Given the description of an element on the screen output the (x, y) to click on. 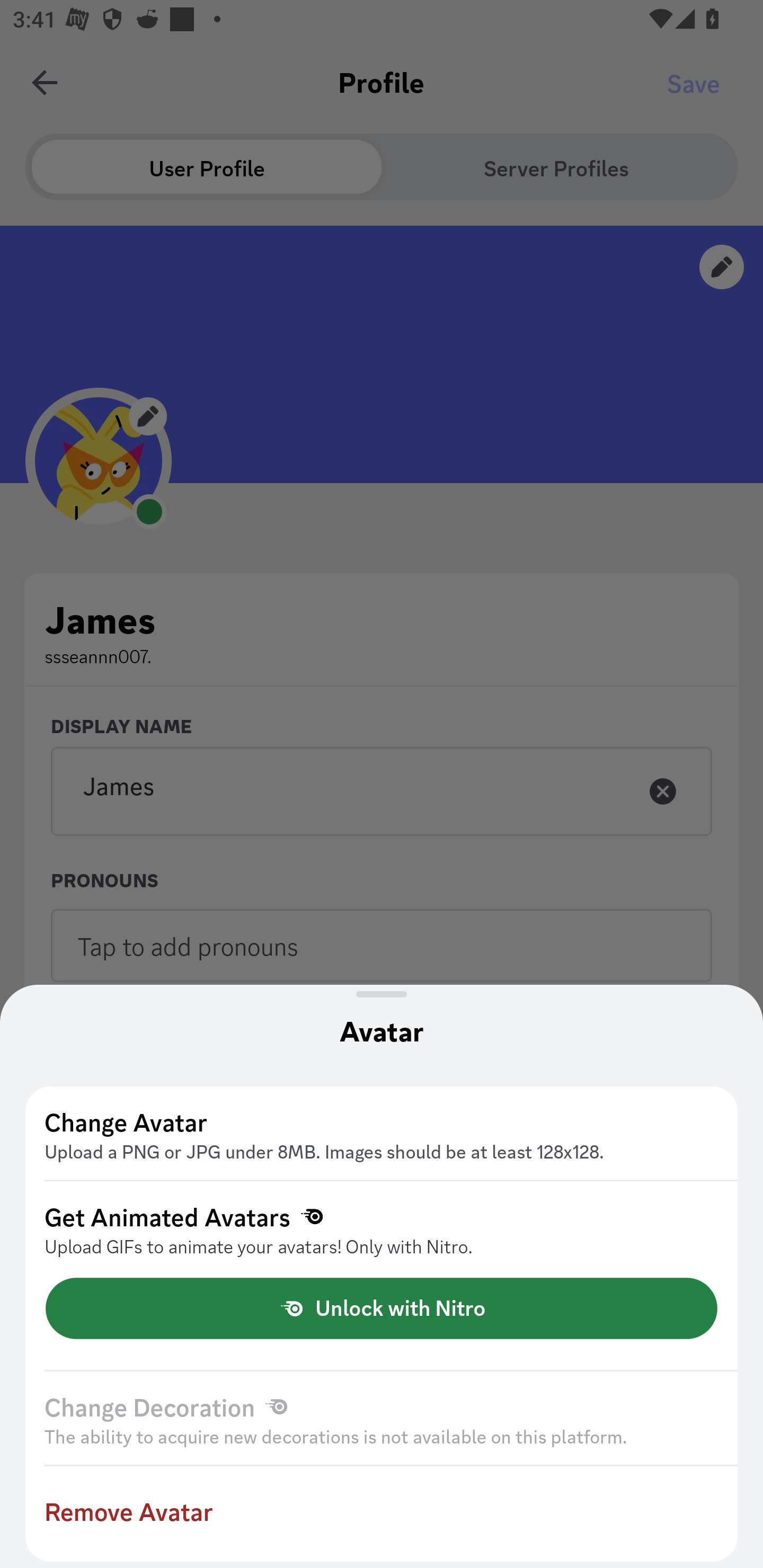
Unlock with Nitro (381, 1308)
Remove Avatar (381, 1513)
